Given the description of an element on the screen output the (x, y) to click on. 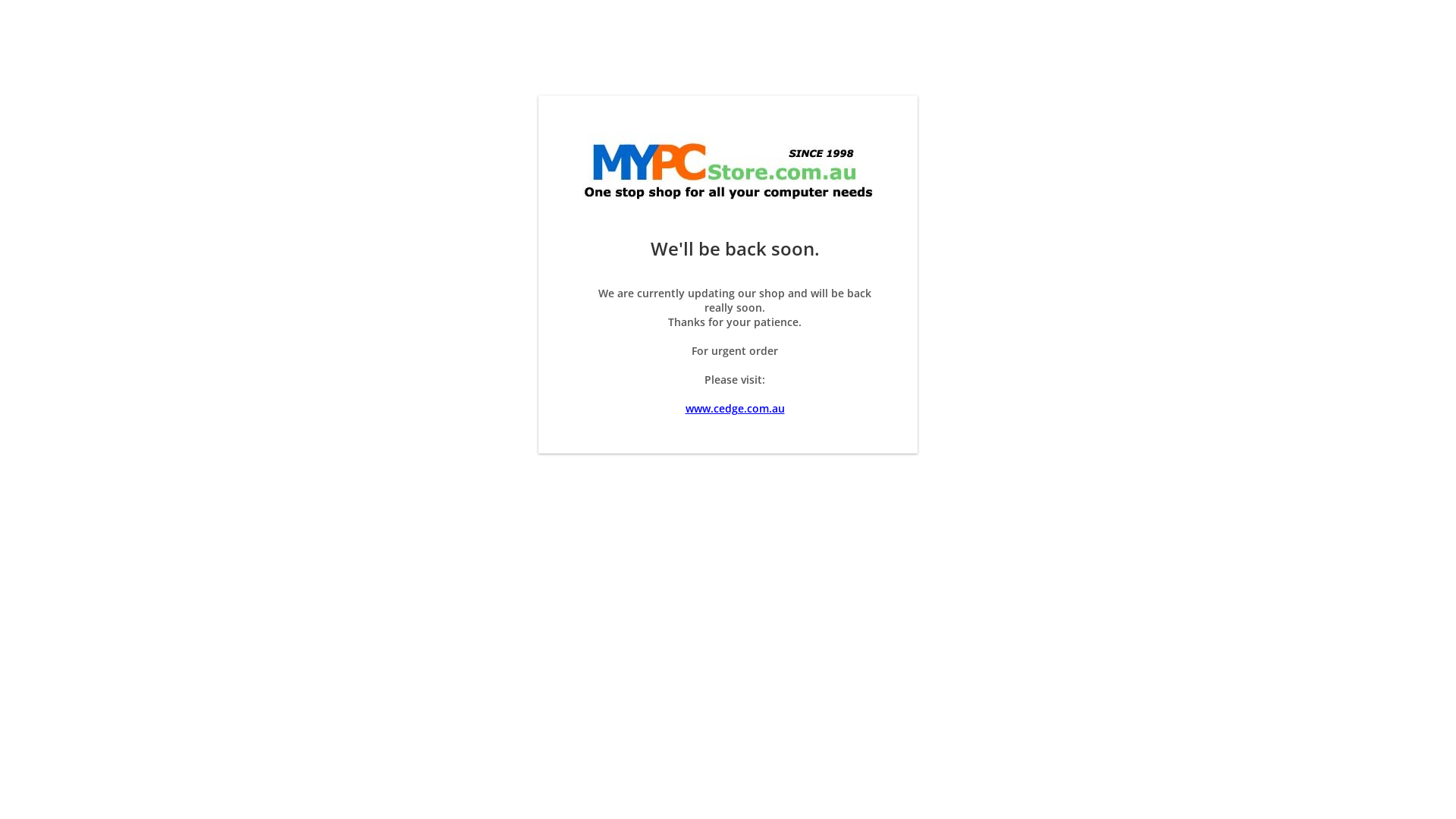
www.cedge.com.au Element type: text (734, 408)
